Given the description of an element on the screen output the (x, y) to click on. 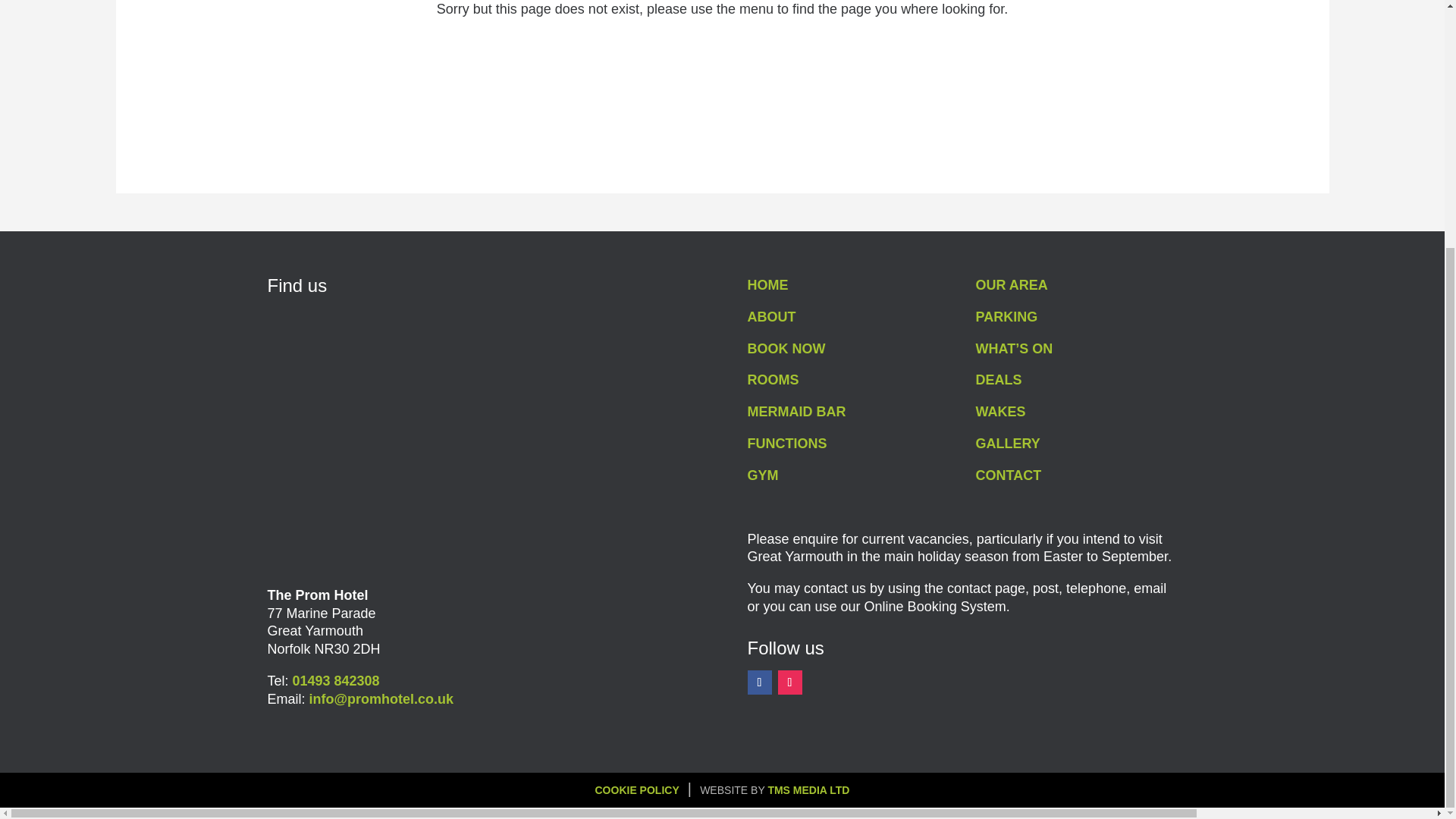
CONTACT (1008, 475)
Follow on Facebook (759, 682)
GALLERY (1008, 443)
PARKING (1006, 316)
TMS MEDIA LTD (807, 789)
BOOK NOW (786, 348)
FUNCTIONS (787, 443)
GYM (763, 475)
DEALS (998, 379)
Follow on Instagram (789, 682)
WAKES (1000, 411)
MERMAID BAR (796, 411)
01493 842308 (336, 680)
COOKIE POLICY (636, 789)
OUR AREA (1011, 284)
